Given the description of an element on the screen output the (x, y) to click on. 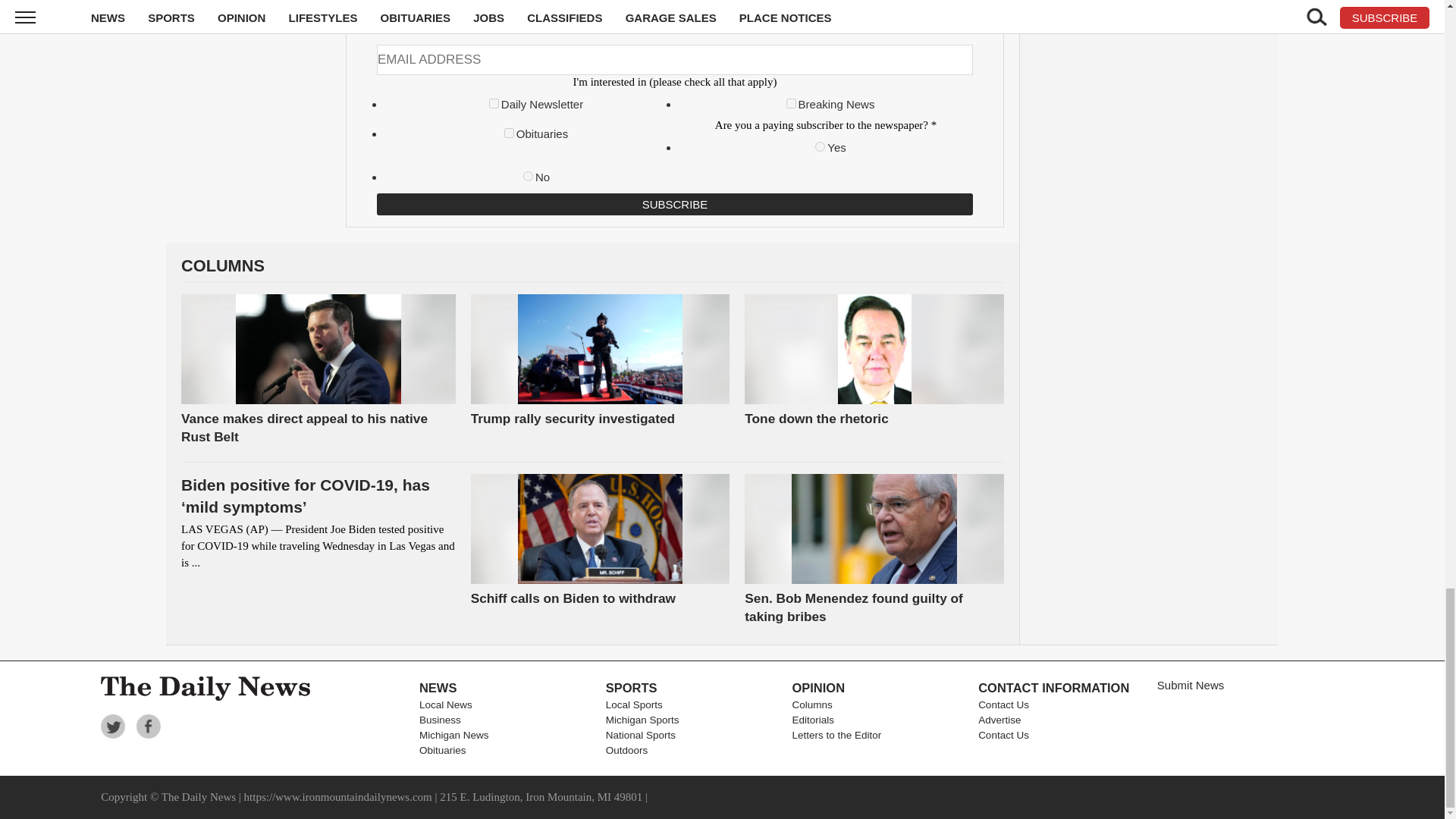
1 (494, 103)
4 (508, 132)
No (527, 175)
Yes (820, 146)
Subscribe (674, 204)
2 (791, 103)
